Given the description of an element on the screen output the (x, y) to click on. 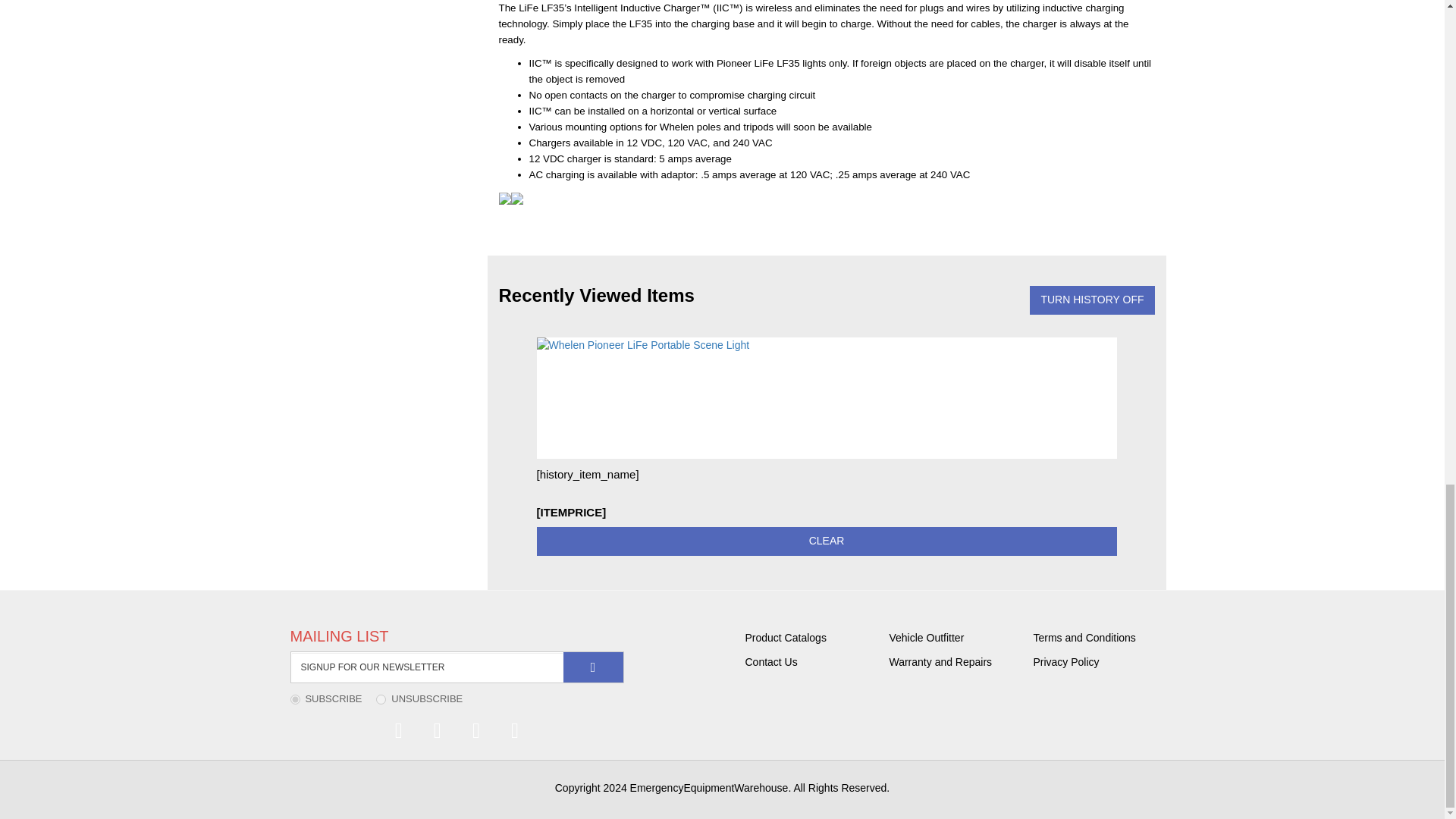
1 (294, 699)
Like Us on Facebook (436, 730)
Follow Us on Instagram (514, 730)
Subscribe to our Blog (398, 730)
Subscribe to our Channel (475, 730)
0 (380, 699)
